Given the description of an element on the screen output the (x, y) to click on. 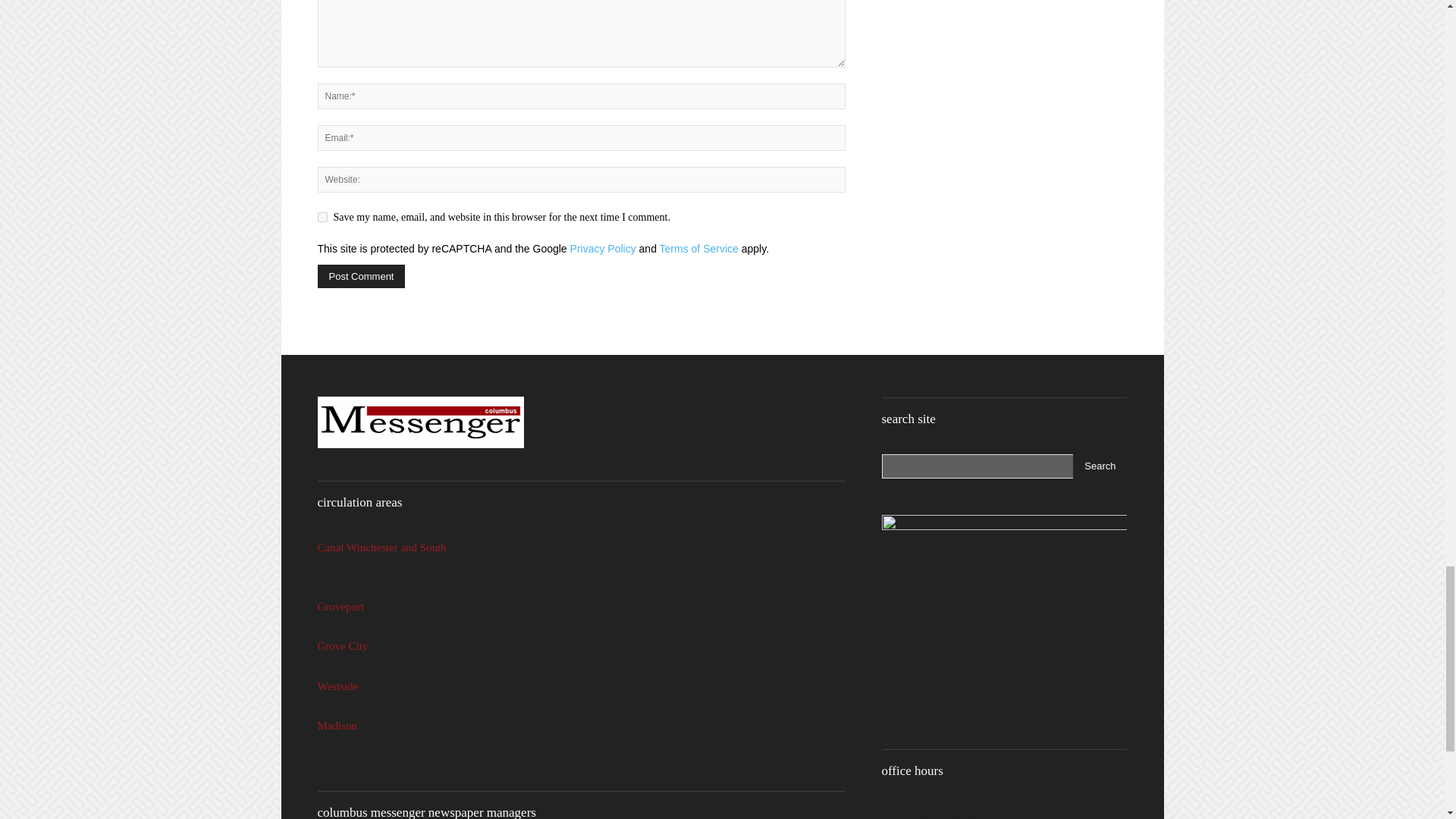
Post Comment (360, 276)
yes (321, 216)
Search (1099, 466)
